Given the description of an element on the screen output the (x, y) to click on. 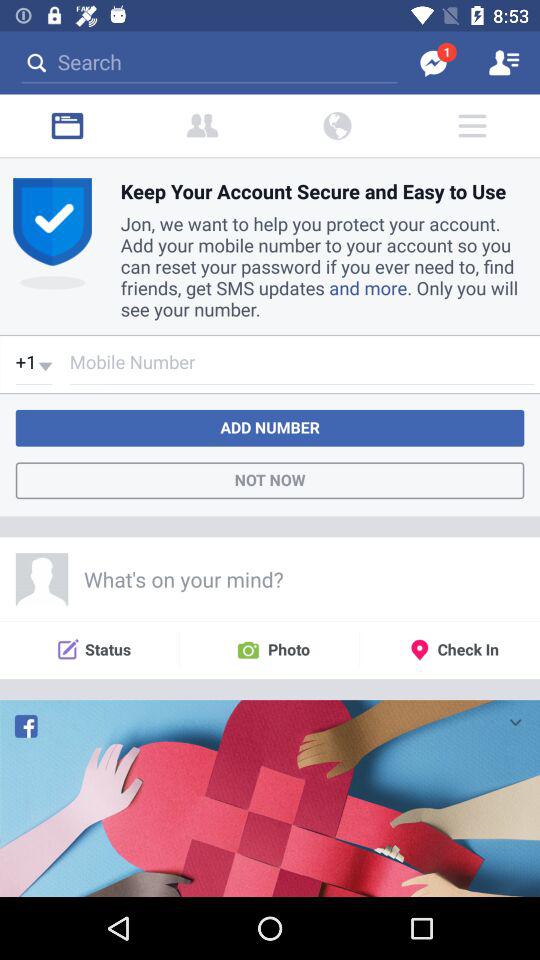
click the beside notification icon (202, 126)
click on the button which is below add number (269, 480)
select the content below keep your account secure and easy to use (321, 263)
select the beside mobile number drop down button (33, 366)
click the drop down button (514, 719)
